Given the description of an element on the screen output the (x, y) to click on. 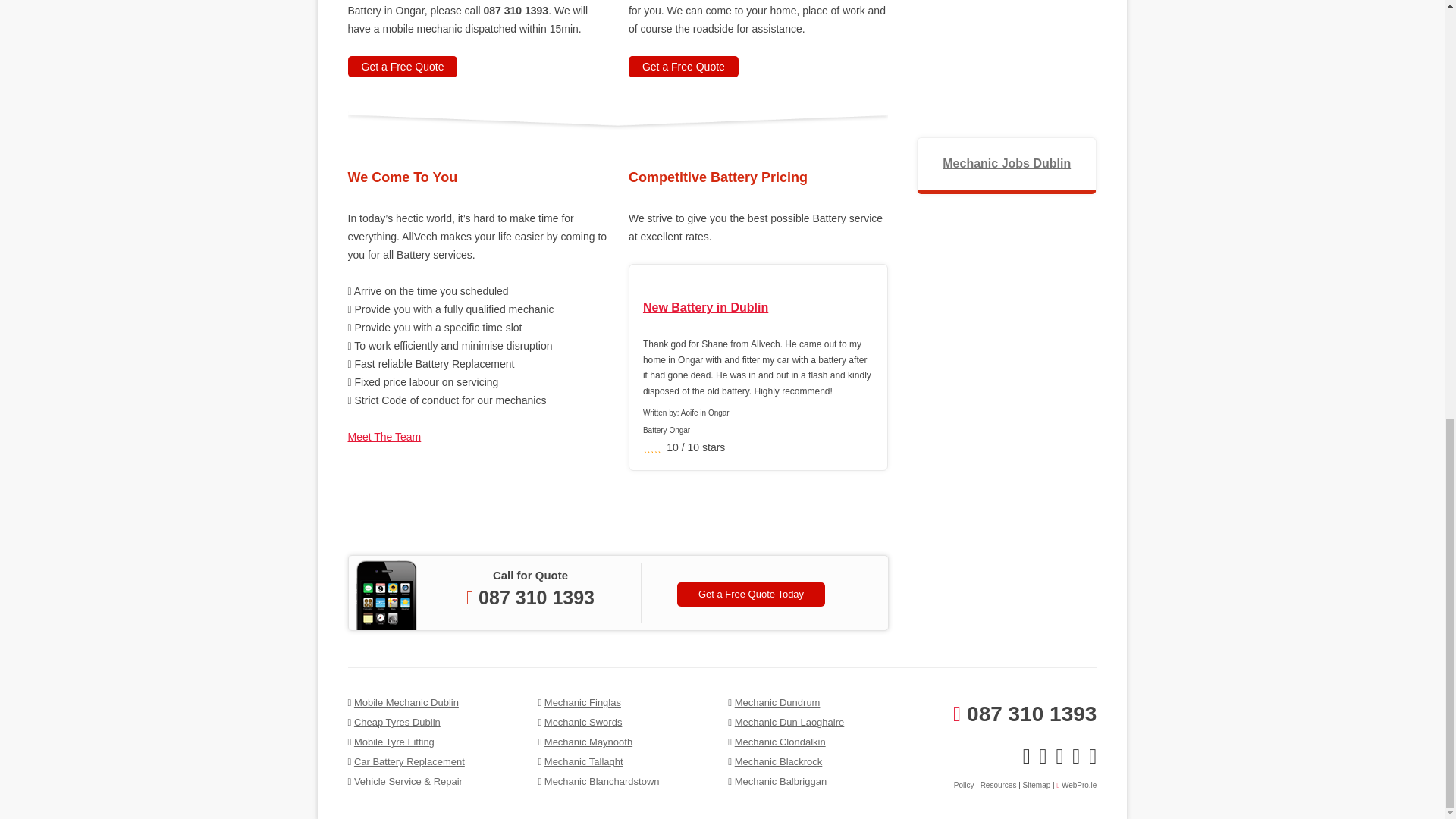
Cheap Tyres Dublin (397, 722)
Get a Free Quote (683, 66)
Mechanic Jobs Dublin (1006, 163)
Get a Free Quote (402, 66)
Meet The Team (383, 436)
New Battery in Dublin (758, 307)
Mobile Tyre Fitting (393, 741)
Mechanic Finglas (582, 702)
Get a Free Quote Today (751, 594)
Car Battery Replacement (408, 761)
Mobile Mechanic Dublin (405, 702)
